Given the description of an element on the screen output the (x, y) to click on. 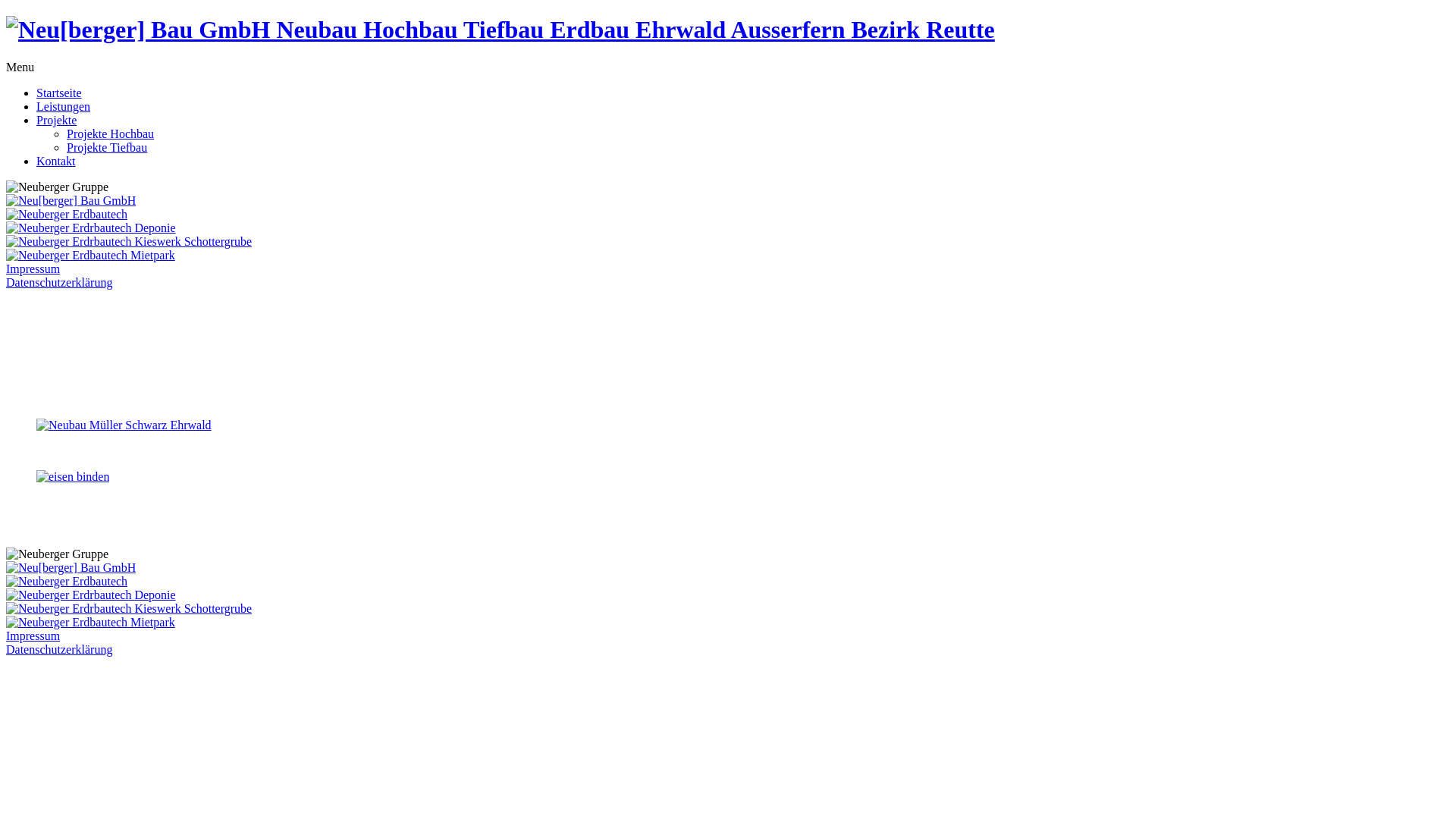
Alfred Neuberger GmbH Element type: hover (70, 567)
Alfred Neuberger GmbH Element type: hover (70, 200)
Alfred Neuberger GmbH Deponie Element type: hover (90, 227)
Alfred Neuberger GmbH Element type: hover (66, 580)
Kontakt Element type: text (55, 160)
Alfred Neuberger GmbH Element type: hover (66, 213)
Alfred Neuberger GmbH Deponie Element type: hover (90, 594)
Impressum Element type: text (32, 268)
Impressum Element type: text (32, 635)
Alfred Neuberger GmbH Deponie Element type: hover (128, 241)
Projekte Element type: text (56, 119)
Neuberger Bau GmbH Hochbaufirma Tiefbaufirma Tirol Ehrwald Element type: hover (500, 29)
Alfred Neuberger GmbH Element type: hover (90, 621)
Alfred Neuberger GmbH Deponie Element type: hover (128, 608)
Projekte Hochbau Element type: text (109, 133)
Startseite Element type: text (58, 92)
Projekte Tiefbau Element type: text (106, 147)
Leistungen Element type: text (63, 106)
Alfred Neuberger GmbH Element type: hover (90, 254)
